Given the description of an element on the screen output the (x, y) to click on. 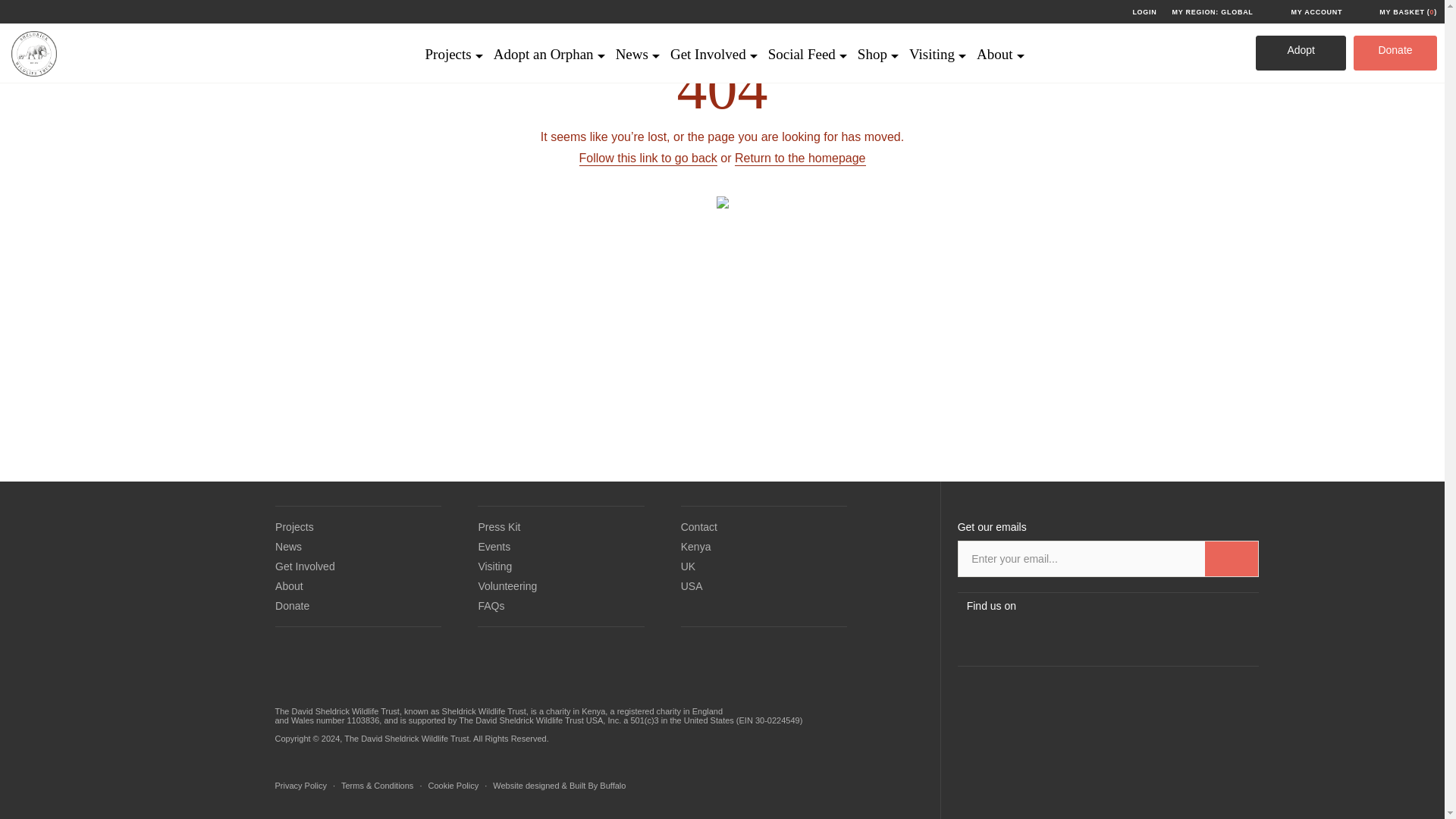
Change to US (593, 538)
Get Involved (711, 63)
MY ACCOUNT (1305, 11)
News (635, 63)
Change to UK (851, 538)
Projects (450, 63)
LOGIN (1143, 11)
Adopt an Orphan (547, 63)
Change to Europe (1110, 538)
